Given the description of an element on the screen output the (x, y) to click on. 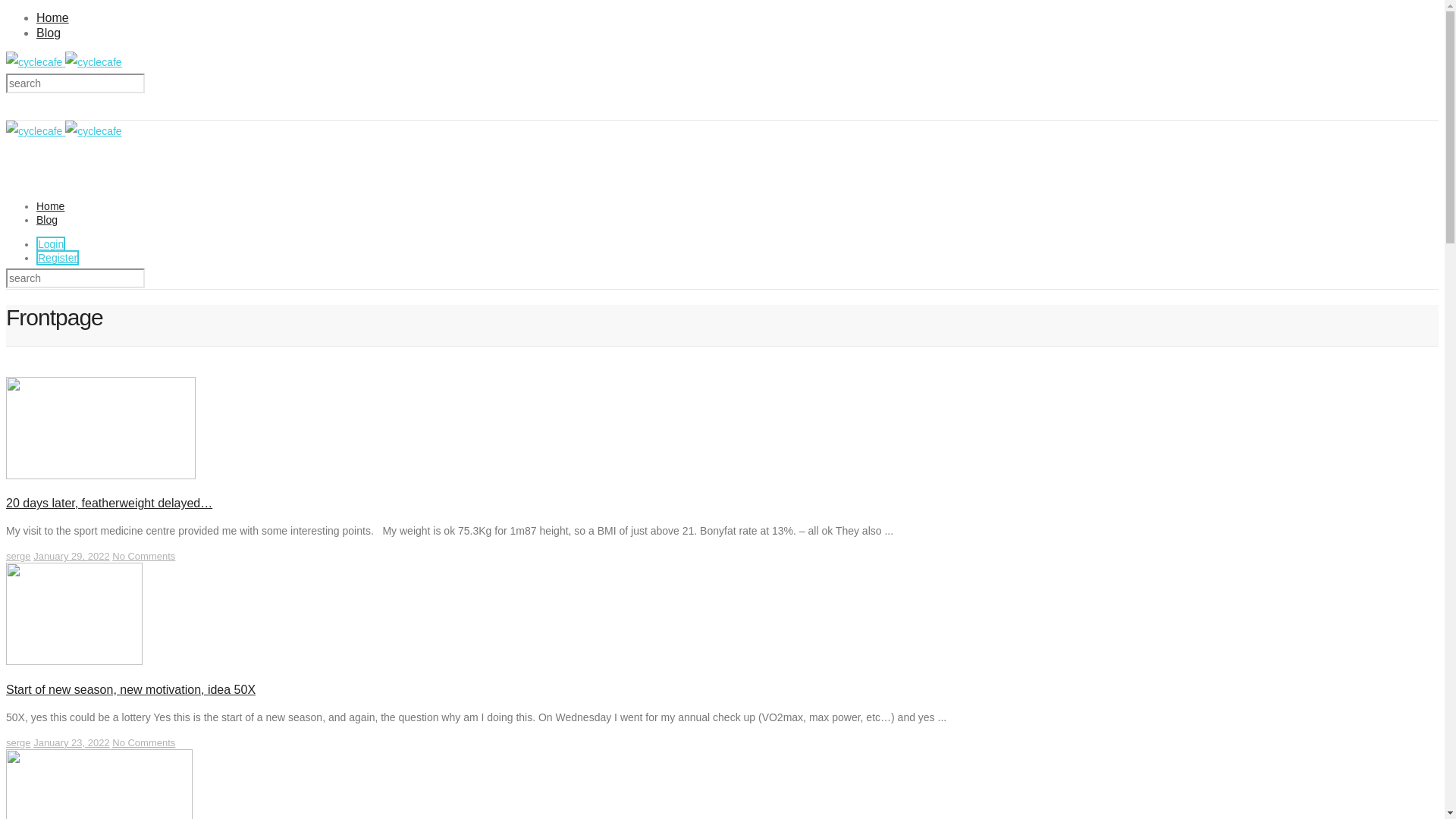
No Comments Element type: text (143, 555)
Login Element type: text (50, 243)
serge Element type: text (18, 742)
Blog Element type: text (48, 32)
Start of new season, new motivation, idea 50X Element type: hover (74, 661)
Home Element type: text (50, 206)
Start of new season, new motivation, idea 50X Element type: text (130, 689)
cyclecafe Element type: hover (64, 131)
January 23, 2022 Element type: text (71, 742)
Blog Element type: text (46, 219)
serge Element type: text (18, 555)
Register Element type: text (57, 257)
cyclecafe Element type: hover (64, 62)
No Comments Element type: text (143, 742)
Home Element type: text (52, 17)
January 29, 2022 Element type: text (71, 555)
